Given the description of an element on the screen output the (x, y) to click on. 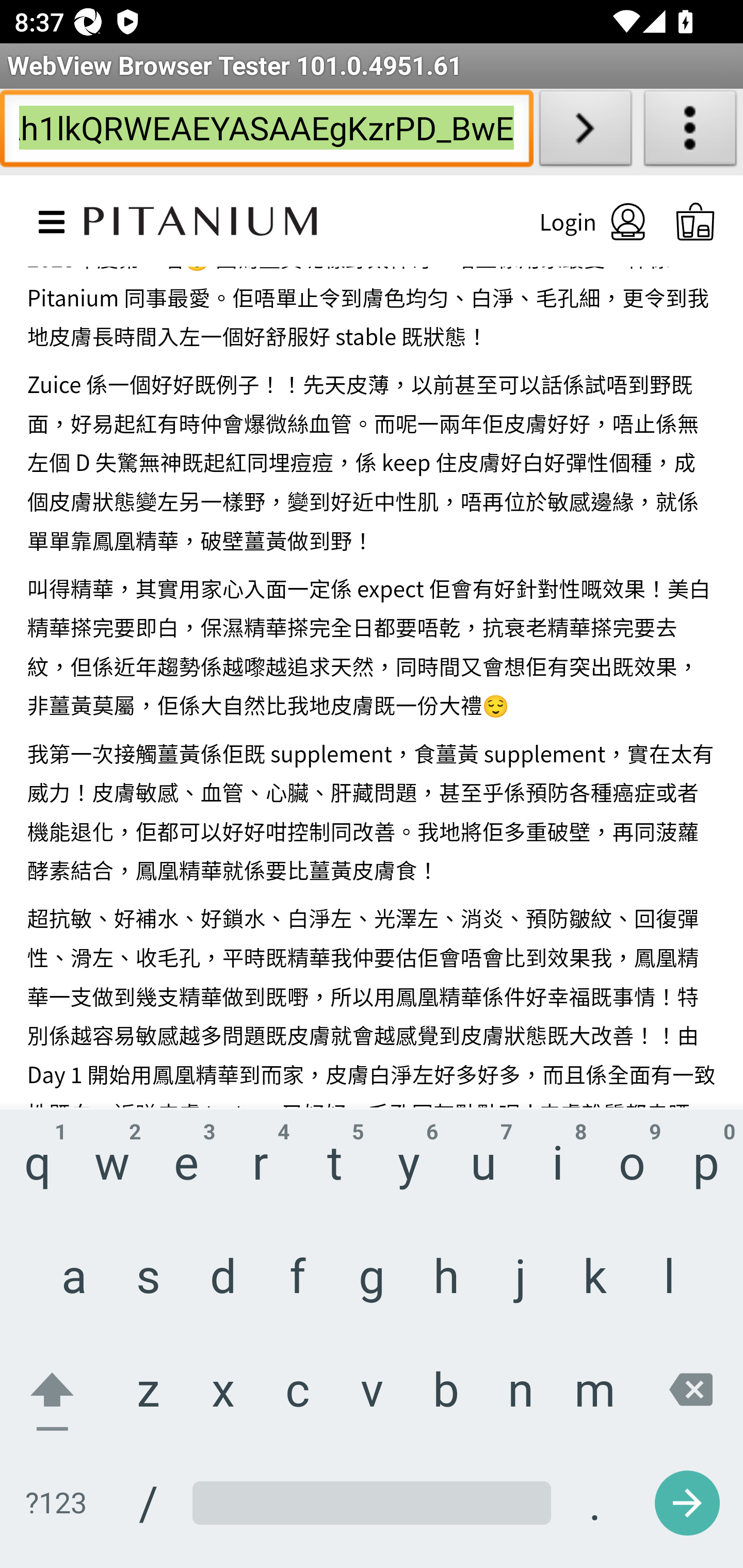
Load URL (585, 132)
About WebView (690, 132)
Login Account (575, 220)
shopping bag (695, 221)
Brand Logo (201, 218)
